Given the description of an element on the screen output the (x, y) to click on. 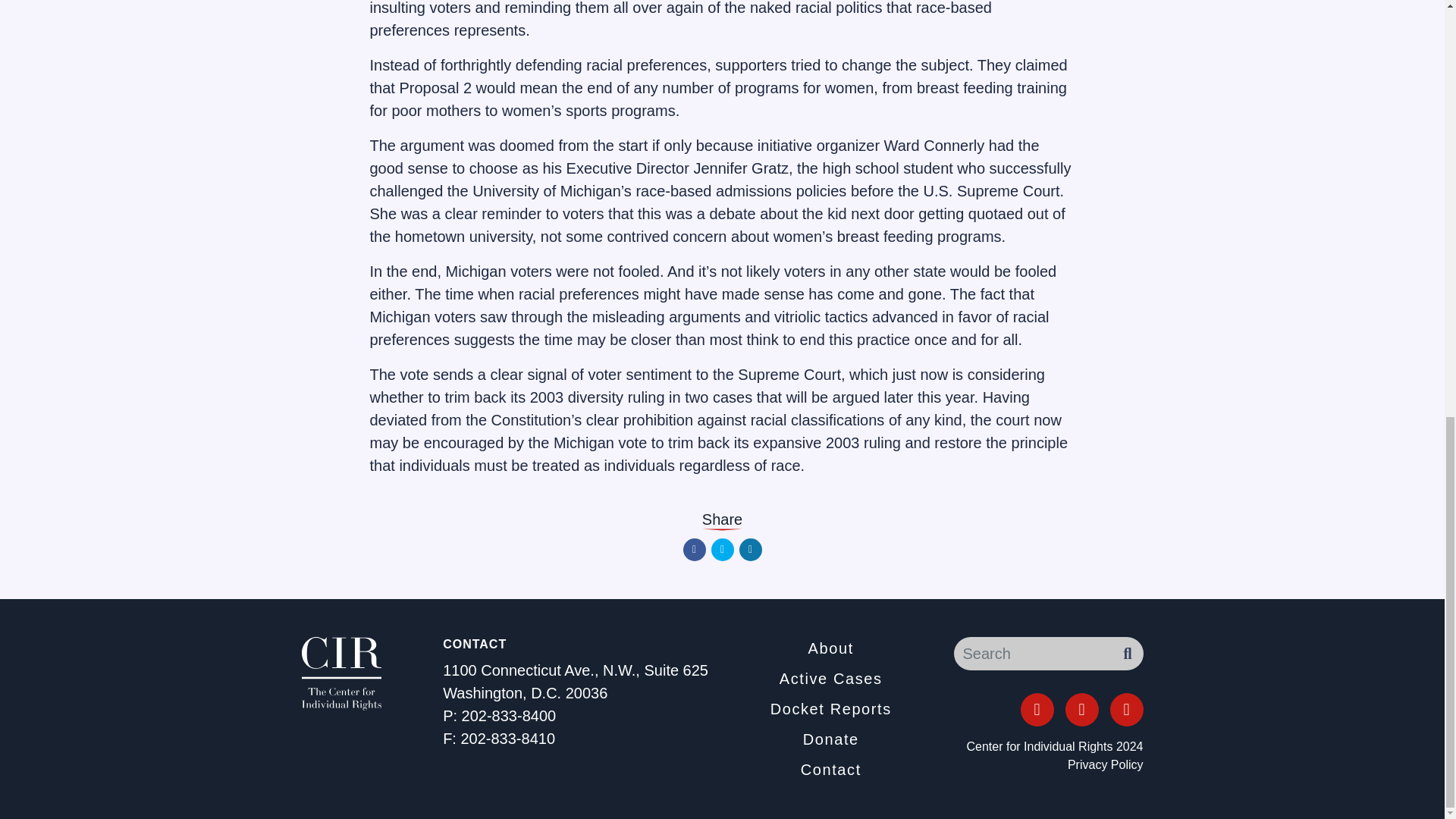
LinkedIn (1125, 709)
Contact (830, 769)
202-833-8400 (508, 715)
About (830, 648)
Twitter (1080, 709)
Facebook (1037, 709)
LinkedIn (749, 549)
Facebook (693, 549)
Twitter (722, 549)
Docket Reports (830, 708)
Privacy Policy (1104, 764)
Active Cases (830, 678)
Donate (831, 739)
